Given the description of an element on the screen output the (x, y) to click on. 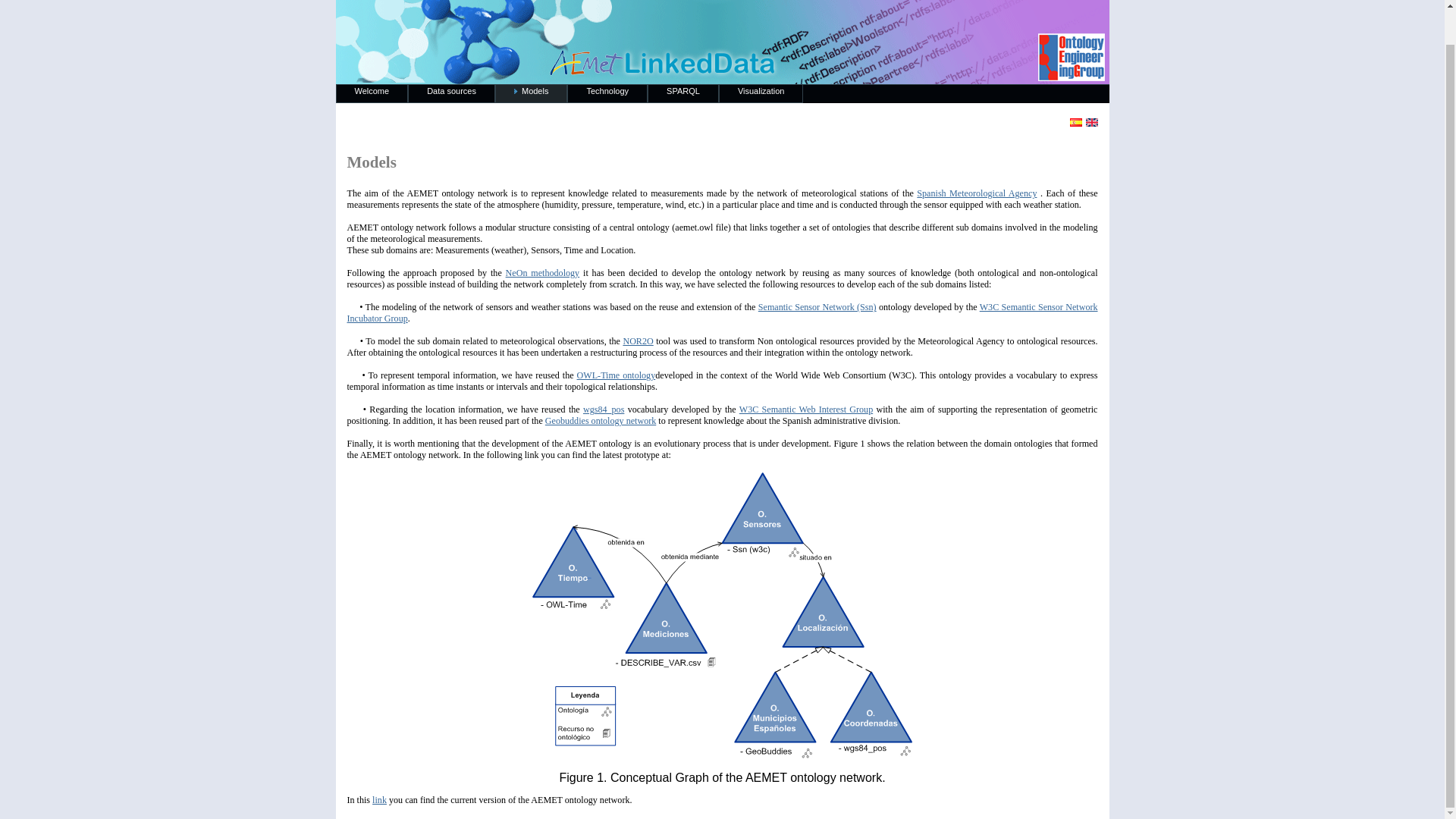
link (379, 799)
NOR2O (637, 340)
Technology (607, 93)
Welcome (370, 93)
SPARQL (683, 93)
W3C Semantic Sensor Network Incubator Group (722, 312)
W3C Semantic Web Interest Group (805, 409)
English (1091, 121)
OWL-Time ontology (616, 375)
Visualization (761, 93)
Data sources (451, 93)
Models (531, 93)
Geobuddies ontology network (600, 420)
NeOn methodology (542, 272)
Spanish Meteorological Agency (976, 193)
